Given the description of an element on the screen output the (x, y) to click on. 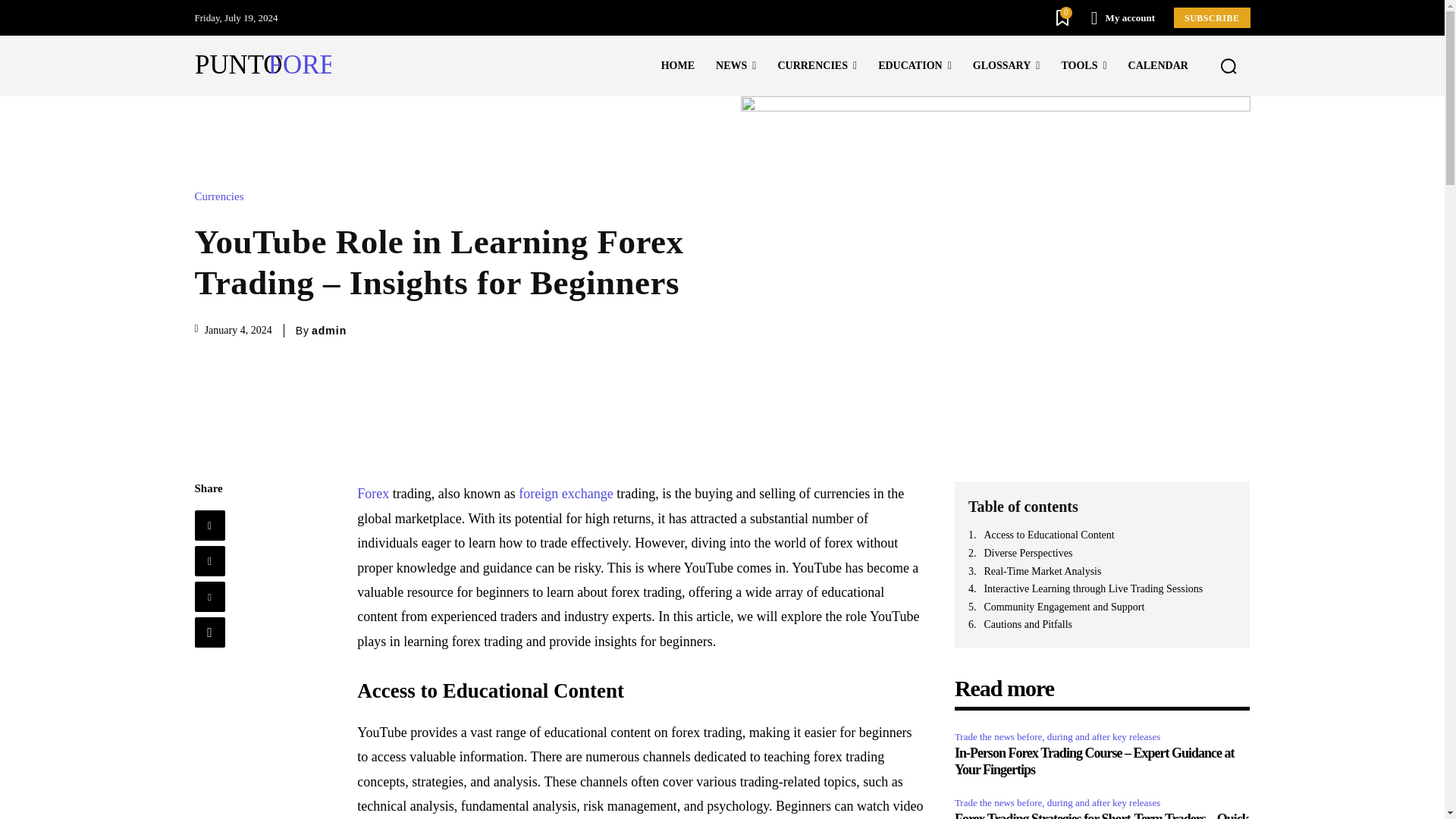
WhatsApp (208, 632)
Subscribe (1211, 17)
Pinterest (208, 596)
Facebook (208, 525)
PUNTO FOREX (261, 65)
Twitter (208, 561)
